Given the description of an element on the screen output the (x, y) to click on. 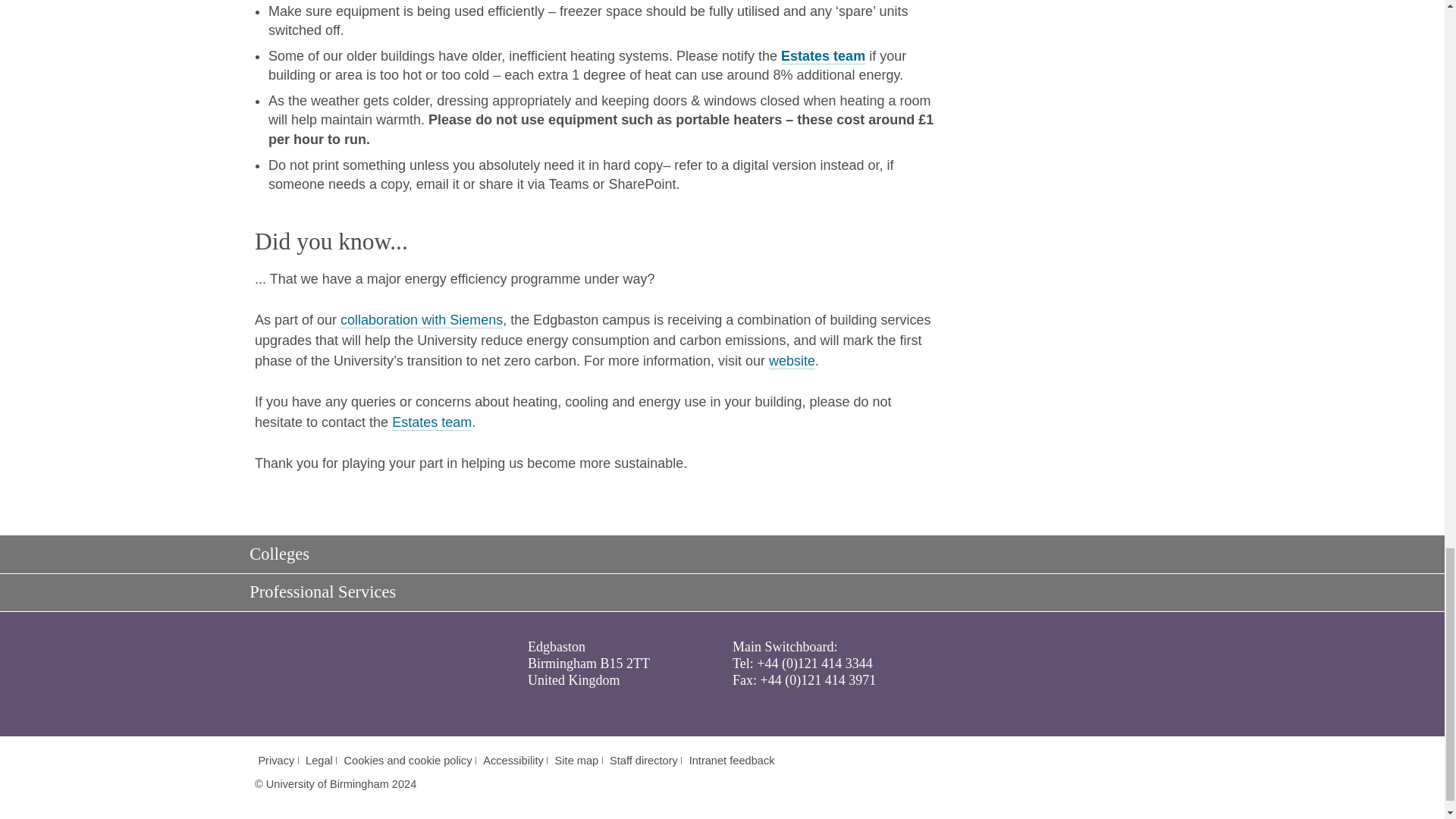
Journey to net zero carbon (421, 320)
Journey to zero carbon (791, 360)
Estates Team contacts (822, 56)
Estates contact links (431, 422)
